Given the description of an element on the screen output the (x, y) to click on. 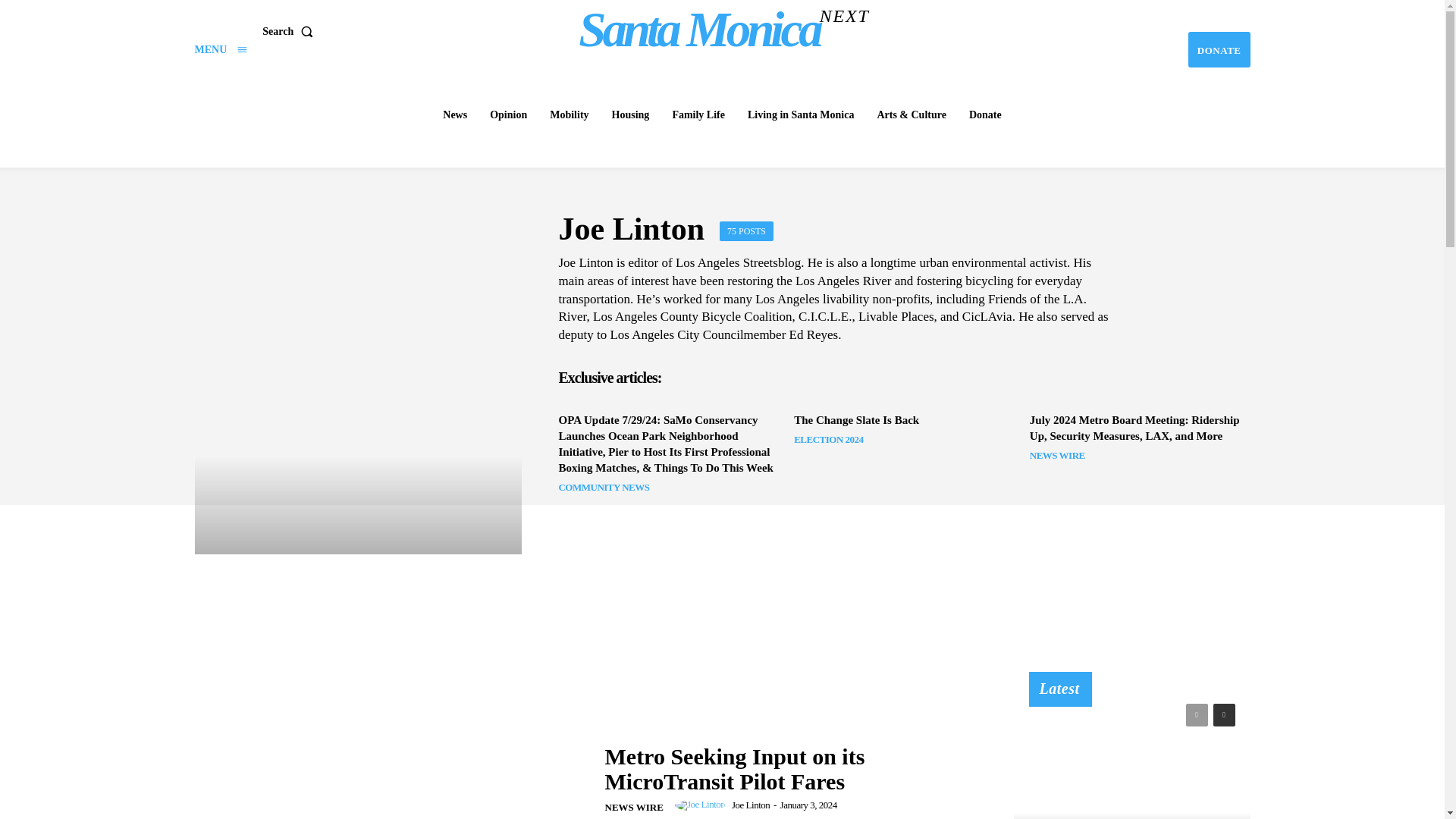
MENU (220, 49)
News (454, 115)
Family Life (697, 115)
Search (290, 30)
The Change Slate Is Back (855, 419)
Metro Seeking Input on its MicroTransit Pilot Fares (389, 745)
Donate (984, 115)
Opinion (507, 115)
Mobility (568, 115)
DONATE (724, 29)
Housing (1219, 49)
Living in Santa Monica (631, 115)
Metro Seeking Input on its MicroTransit Pilot Fares (800, 115)
